Given the description of an element on the screen output the (x, y) to click on. 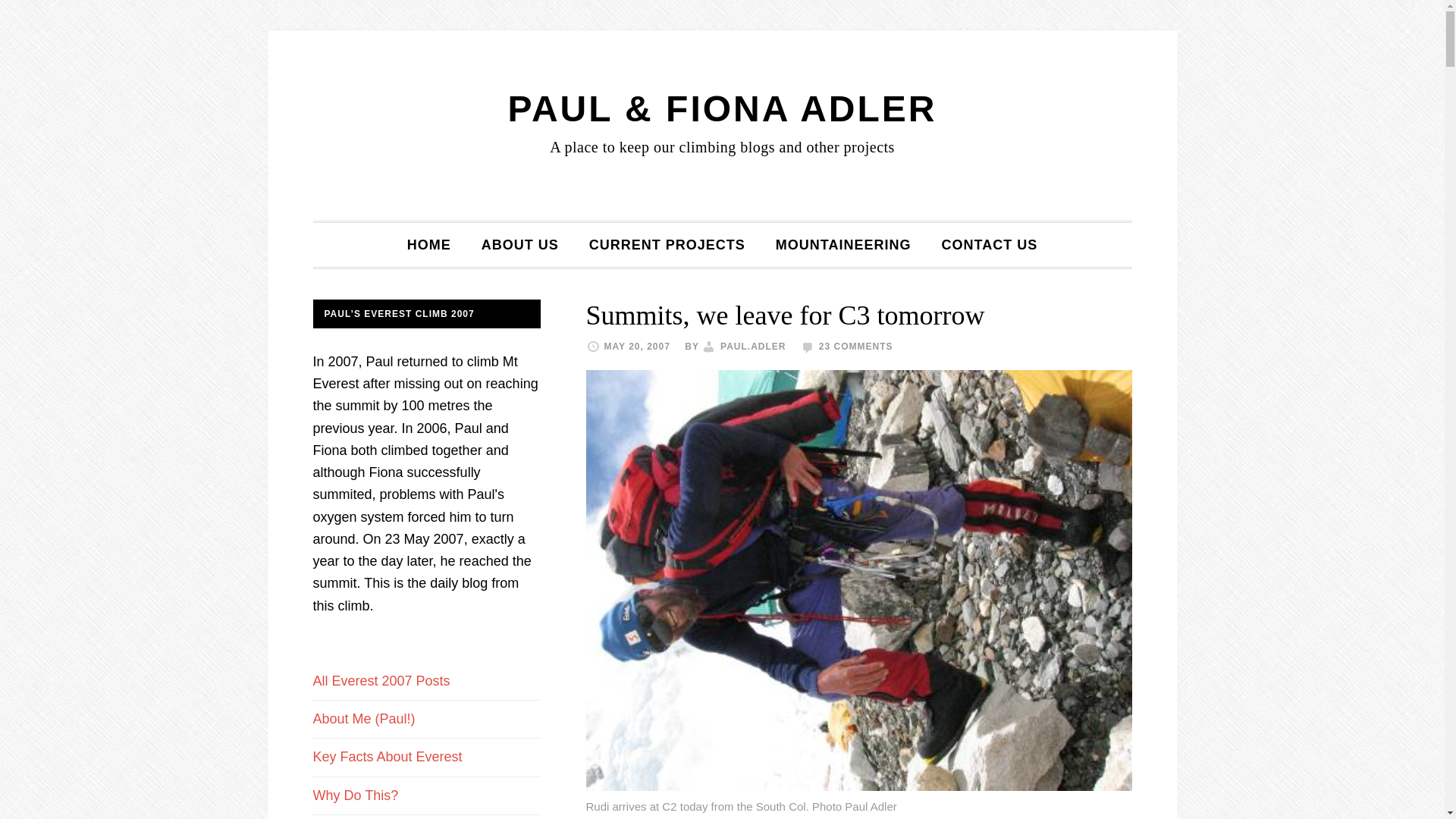
HOME (428, 244)
23 COMMENTS (855, 346)
CONTACT US (989, 244)
MOUNTAINEERING (843, 244)
CURRENT PROJECTS (666, 244)
PAUL.ADLER (753, 346)
ABOUT US (519, 244)
